Given the description of an element on the screen output the (x, y) to click on. 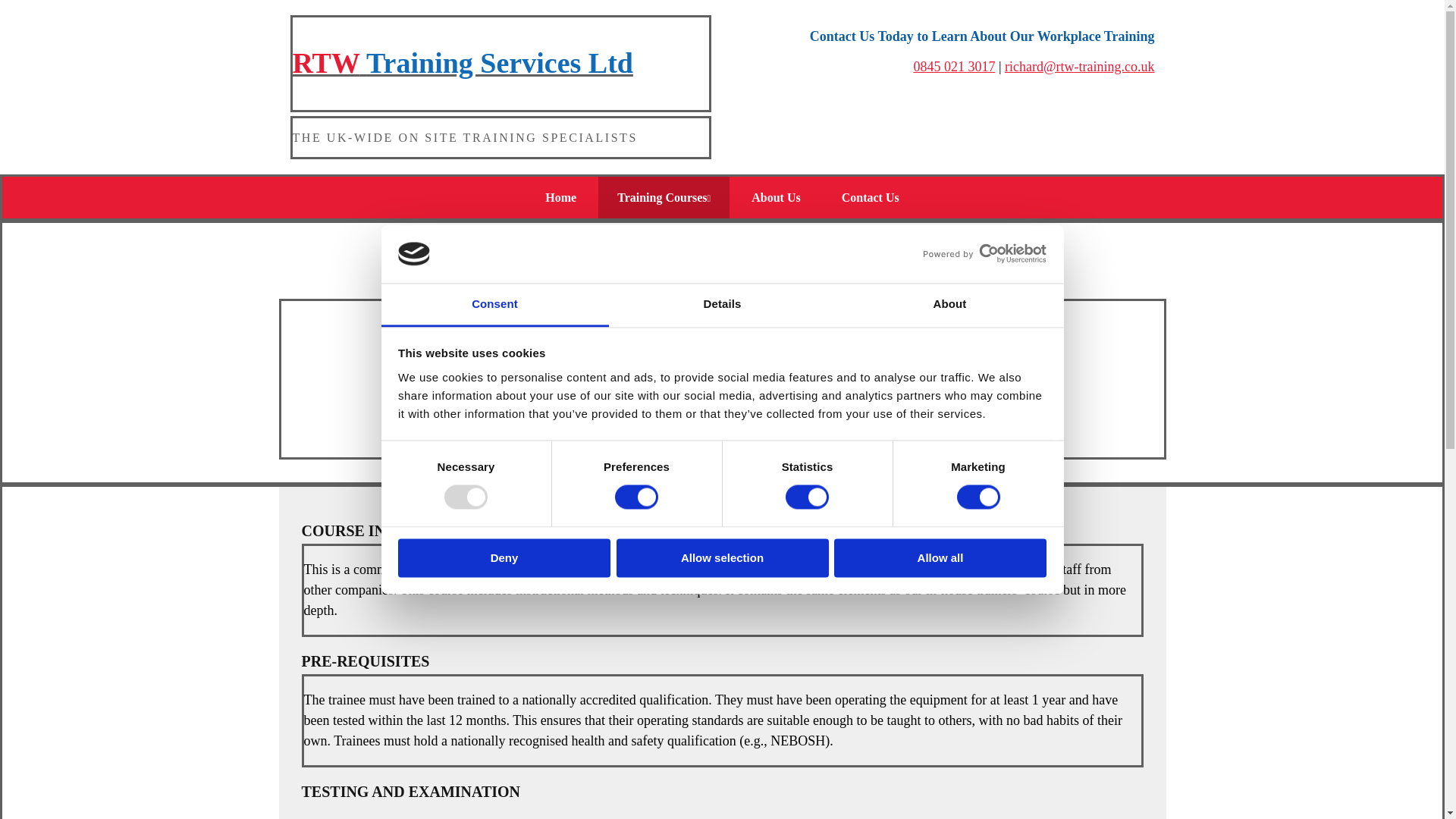
Details (721, 304)
Home (560, 197)
Deny (503, 557)
Consent (494, 304)
Training Courses (663, 197)
About (948, 304)
RTW Training Services Ltd (462, 62)
Allow selection (721, 557)
0845 021 3017 (953, 66)
Allow all (940, 557)
